Given the description of an element on the screen output the (x, y) to click on. 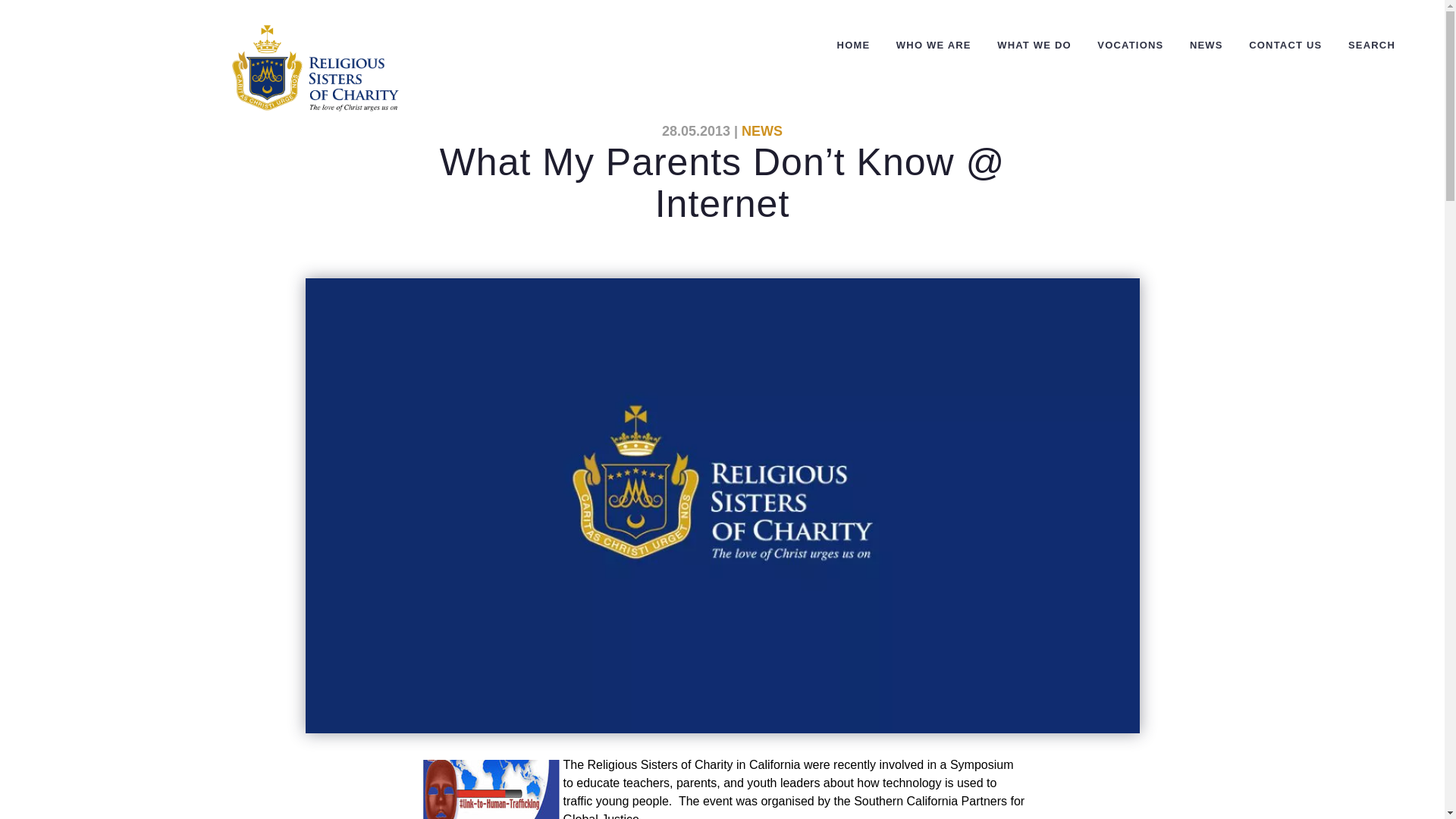
VOCATIONS (1130, 45)
SEARCH (1371, 45)
Religious Sisters of Charity (314, 67)
CONTACT US (1285, 45)
WHO WE ARE (933, 45)
WHAT WE DO (1034, 45)
